Given the description of an element on the screen output the (x, y) to click on. 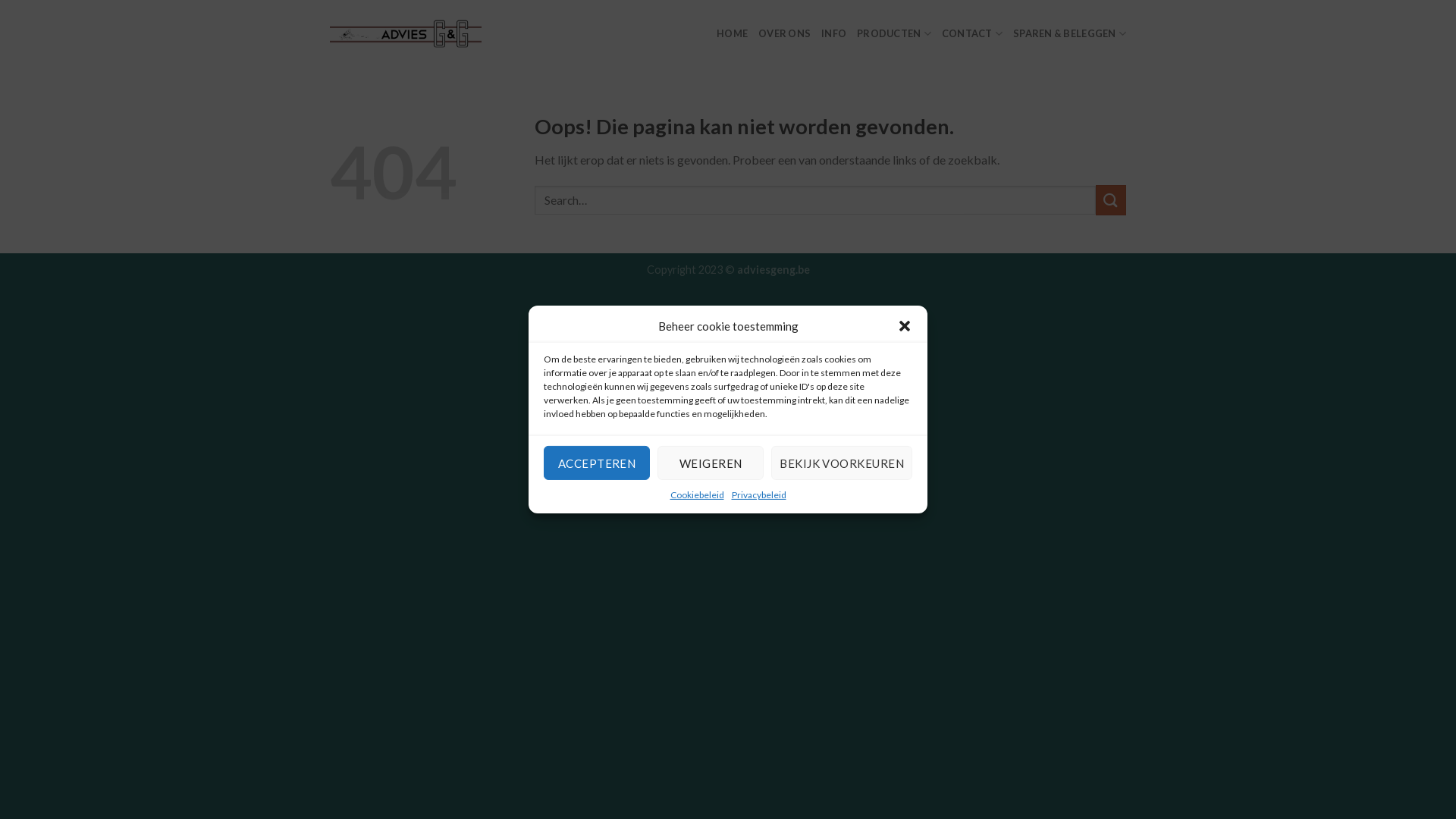
WEIGEREN Element type: text (710, 462)
PRODUCTEN Element type: text (893, 33)
adviesgeng.be - Onafhankelijke Verzekeringsmakelaar. Element type: hover (405, 33)
Cookiebeleid Element type: text (697, 494)
BEKIJK VOORKEUREN Element type: text (841, 462)
OVER ONS Element type: text (784, 33)
HOME Element type: text (731, 33)
CONTACT Element type: text (971, 33)
ACCEPTEREN Element type: text (596, 462)
Privacybeleid Element type: text (758, 494)
INFO Element type: text (833, 33)
SPAREN & BELEGGEN Element type: text (1069, 33)
